Given the description of an element on the screen output the (x, y) to click on. 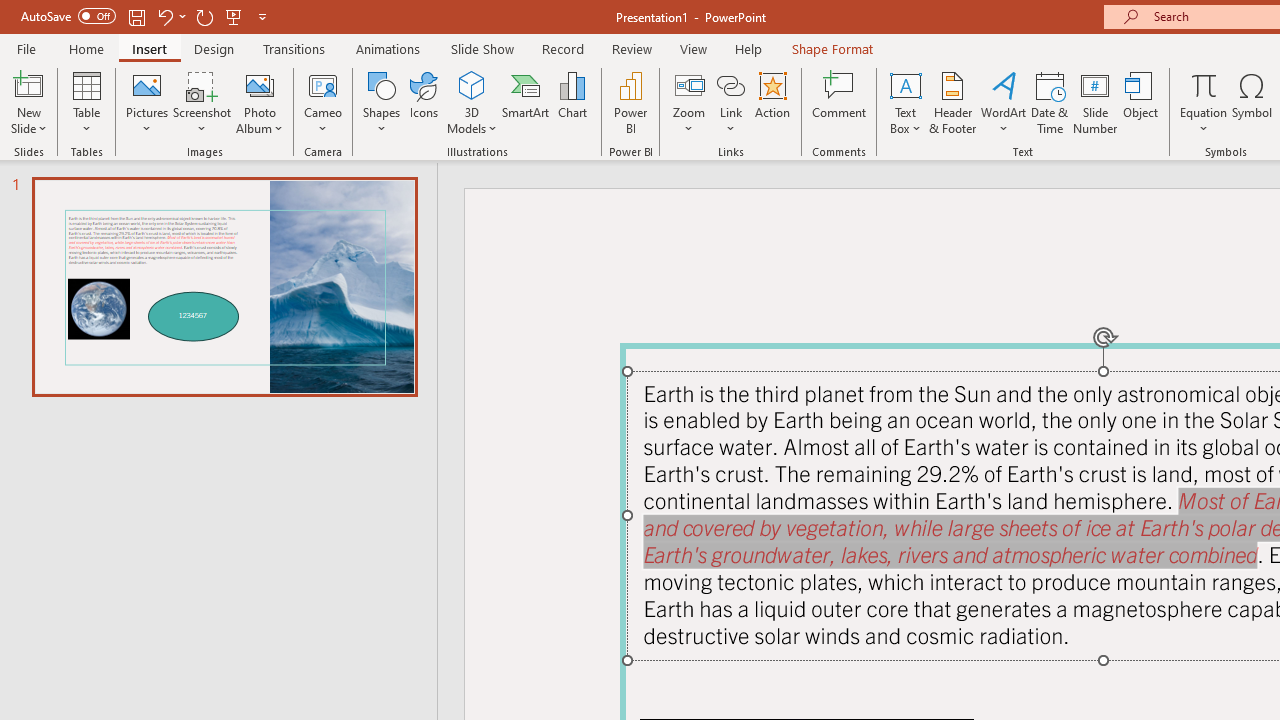
Action (772, 102)
Date & Time... (1050, 102)
Header & Footer... (952, 102)
Table (86, 102)
Power BI (630, 102)
